Given the description of an element on the screen output the (x, y) to click on. 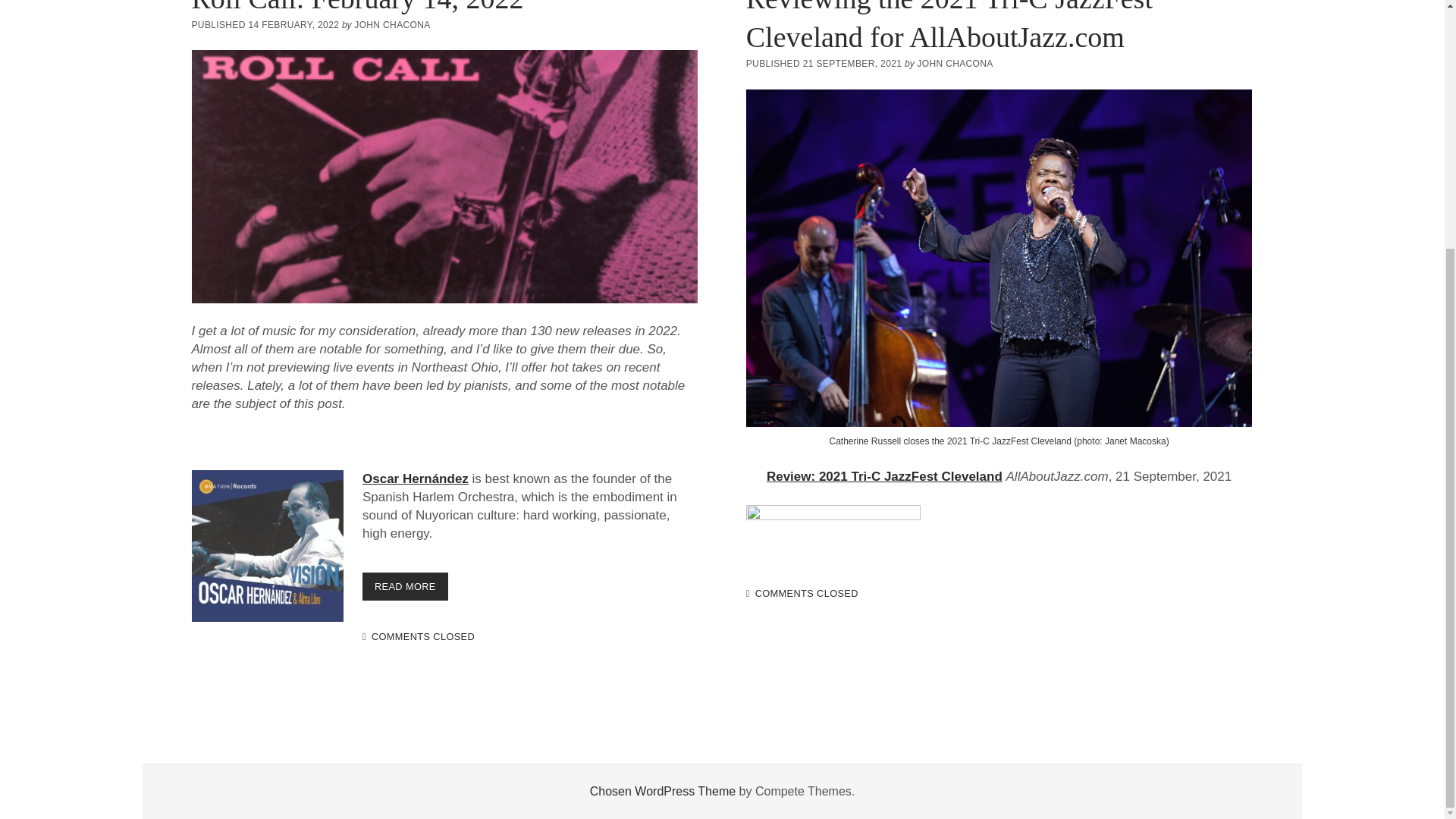
Roll Call: February 14, 2022 (405, 586)
Roll Call: February 14, 2022 (443, 176)
Review: 2021 Tri-C JazzFest Cleveland (356, 7)
Chosen WordPress Theme (885, 476)
